Given the description of an element on the screen output the (x, y) to click on. 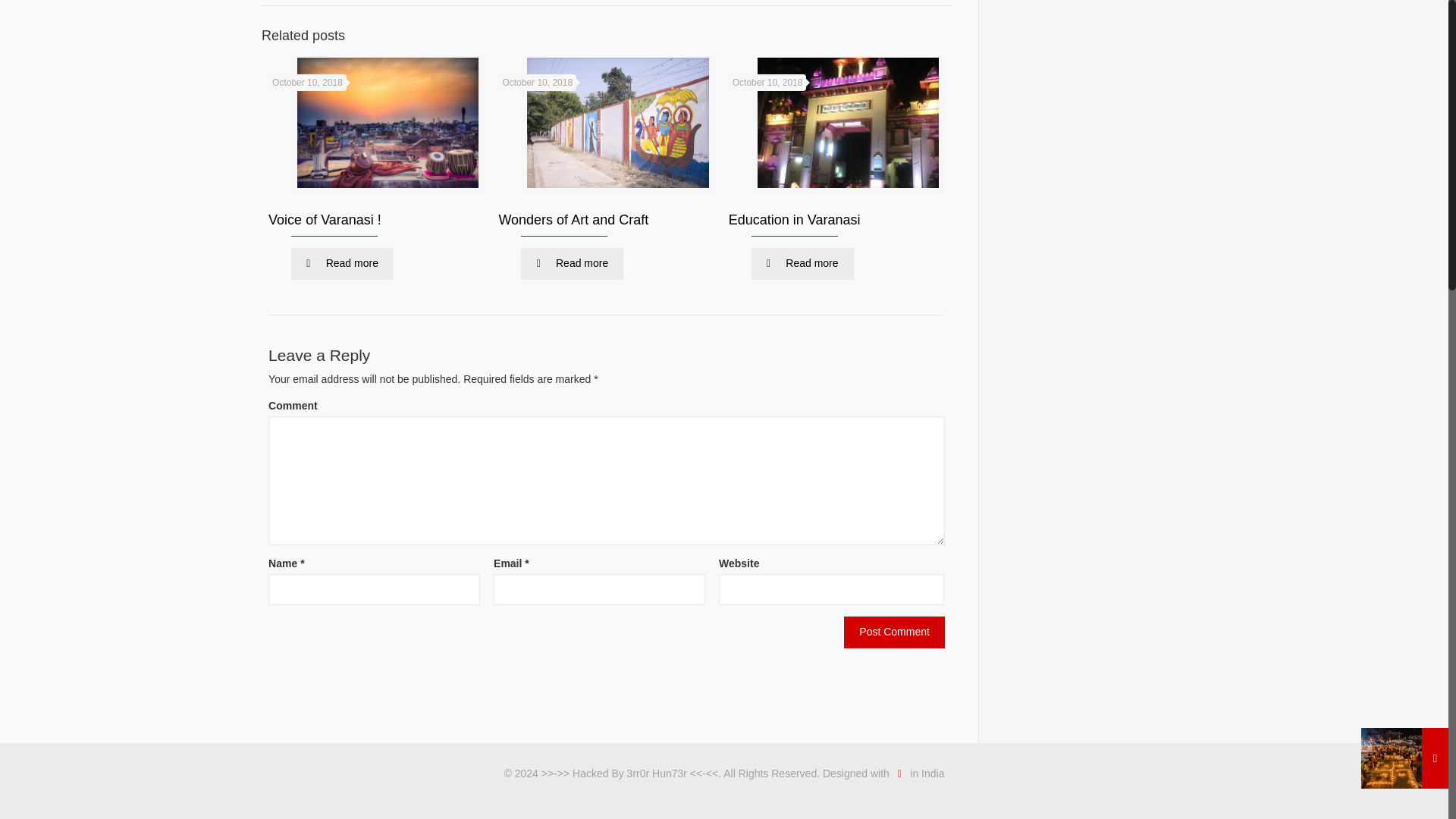
Post Comment (894, 632)
